Given the description of an element on the screen output the (x, y) to click on. 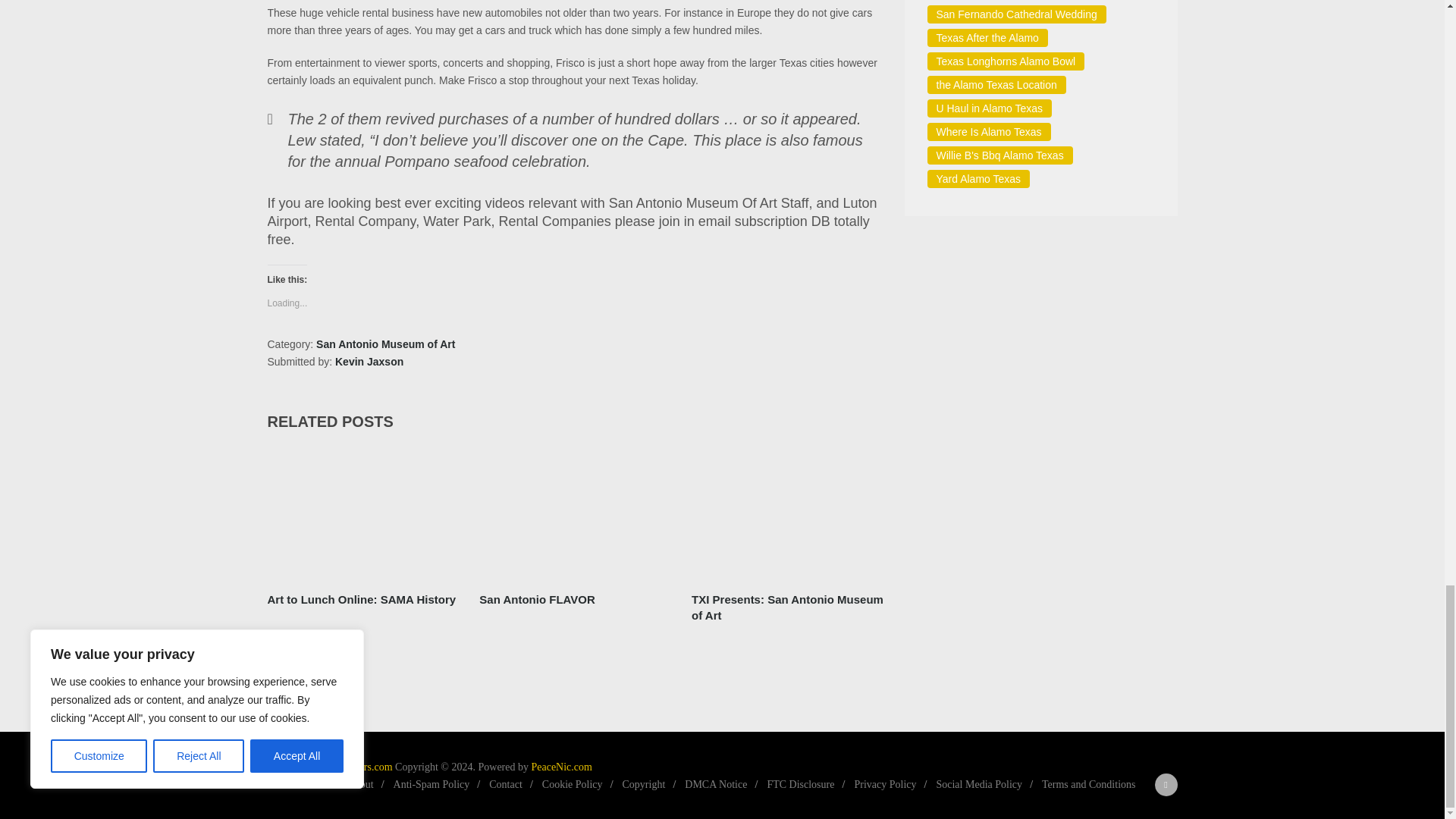
Art to Lunch Online: SAMA History (360, 599)
Kevin Jaxson (368, 361)
Art to Lunch Online: SAMA History (360, 599)
San Antonio Museum of Art (384, 344)
TXI Presents: San Antonio Museum of Art (788, 513)
Art to Lunch Online: SAMA History (363, 513)
San Antonio FLAVOR (536, 599)
TXI Presents: San Antonio Museum of Art (788, 607)
San Antonio FLAVOR (575, 513)
